Given the description of an element on the screen output the (x, y) to click on. 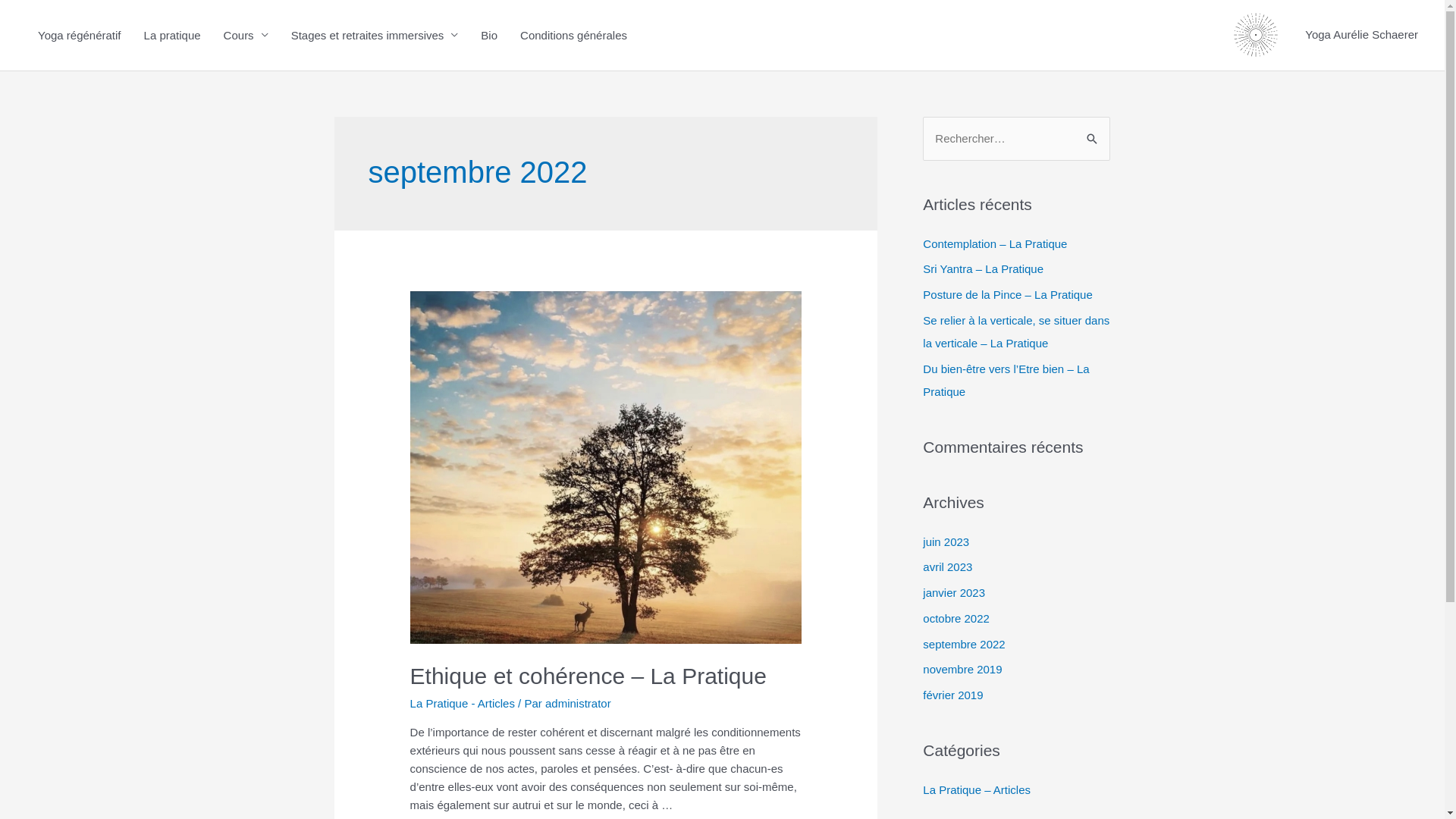
octobre 2022 Element type: text (955, 617)
juin 2023 Element type: text (945, 541)
Stages et retraites immersives Element type: text (374, 34)
janvier 2023 Element type: text (953, 592)
avril 2023 Element type: text (947, 566)
Cours Element type: text (245, 34)
La pratique Element type: text (172, 34)
administrator Element type: text (578, 702)
Bio Element type: text (488, 34)
septembre 2022 Element type: text (963, 643)
La Pratique - Articles Element type: text (462, 702)
novembre 2019 Element type: text (961, 668)
Rechercher Element type: text (1093, 136)
